Given the description of an element on the screen output the (x, y) to click on. 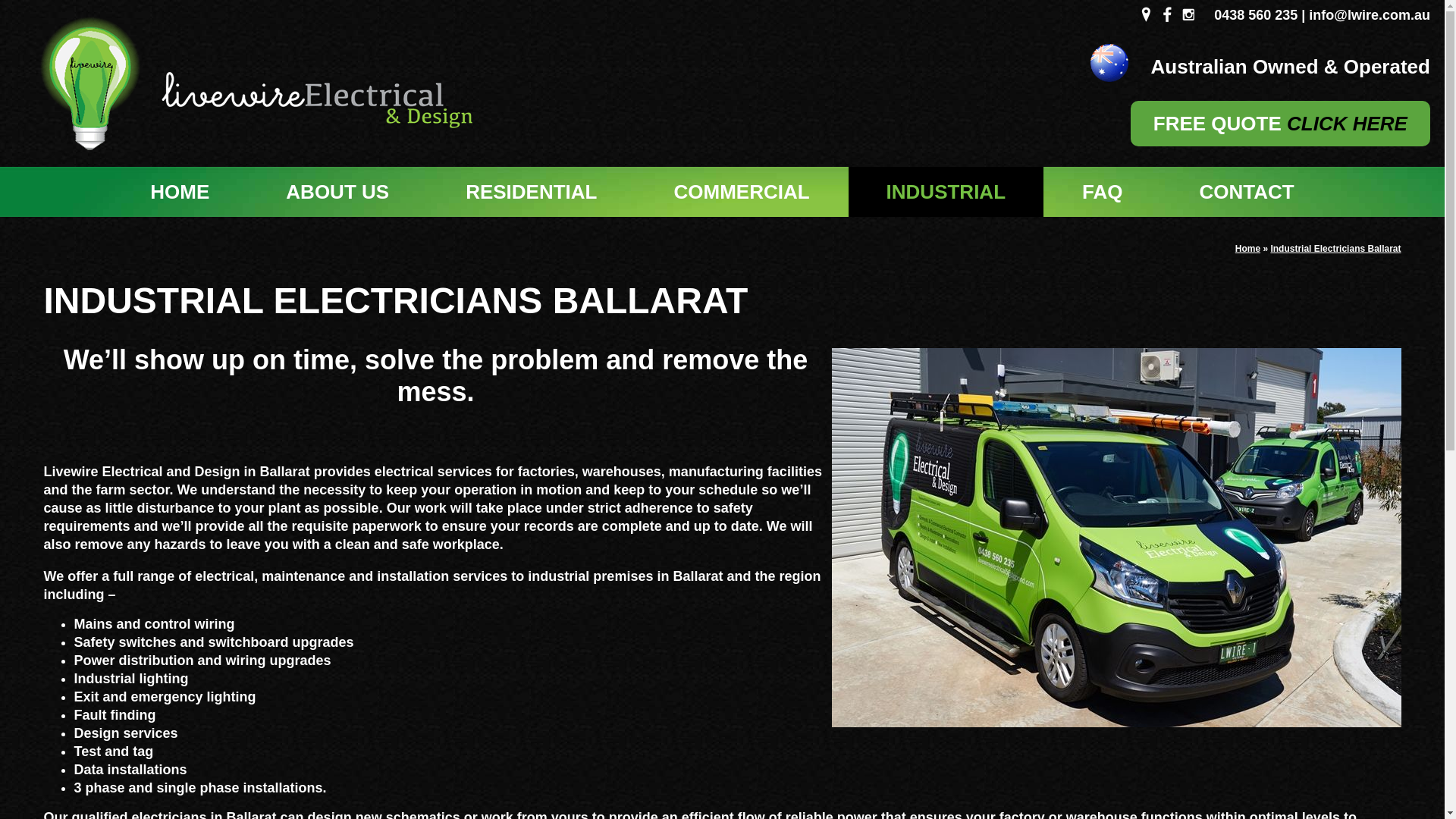
View our Instagram Gallery Element type: hover (1187, 14)
info@lwire.com.au Element type: text (1369, 14)
Australian Owned & Operated Element type: hover (1090, 62)
COMMERCIAL Element type: text (741, 191)
Follow us on Facebook Element type: hover (1166, 14)
Our Location on Google maps Element type: hover (1145, 14)
RESIDENTIAL Element type: text (530, 191)
FAQ Element type: text (1102, 191)
Livewire Electrical & Design Element type: hover (238, 83)
Home Element type: text (1247, 248)
FREE QUOTE CLICK HERE Element type: text (1280, 123)
ABOUT US Element type: text (336, 191)
Industrial Electricians Ballarat Element type: text (1335, 248)
INDUSTRIAL Element type: text (945, 191)
Livewire Electrical + Design - Industrial Element type: hover (1115, 537)
CONTACT Element type: text (1246, 191)
0438 560 235 Element type: text (1255, 14)
HOME Element type: text (179, 191)
